Given the description of an element on the screen output the (x, y) to click on. 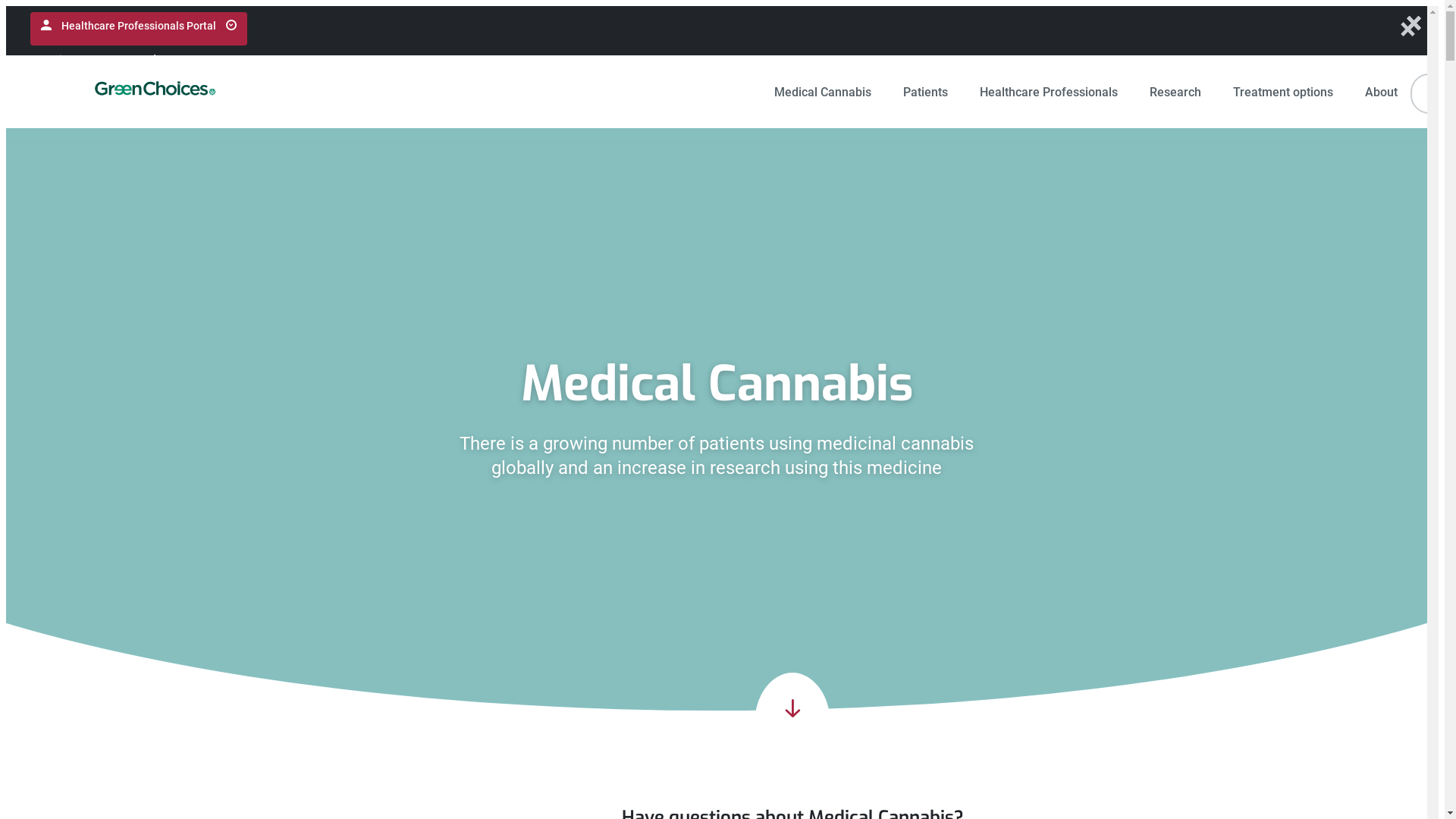
Medical Cannabis Element type: text (822, 91)
Patients Element type: text (925, 91)
Healthcare Professionals Element type: text (1048, 91)
Contact us today Element type: text (126, 59)
Healthcare Professionals Portal Element type: text (138, 28)
Research Element type: text (1175, 91)
Treatment options Element type: text (1283, 91)
About Element type: text (1381, 91)
